Given the description of an element on the screen output the (x, y) to click on. 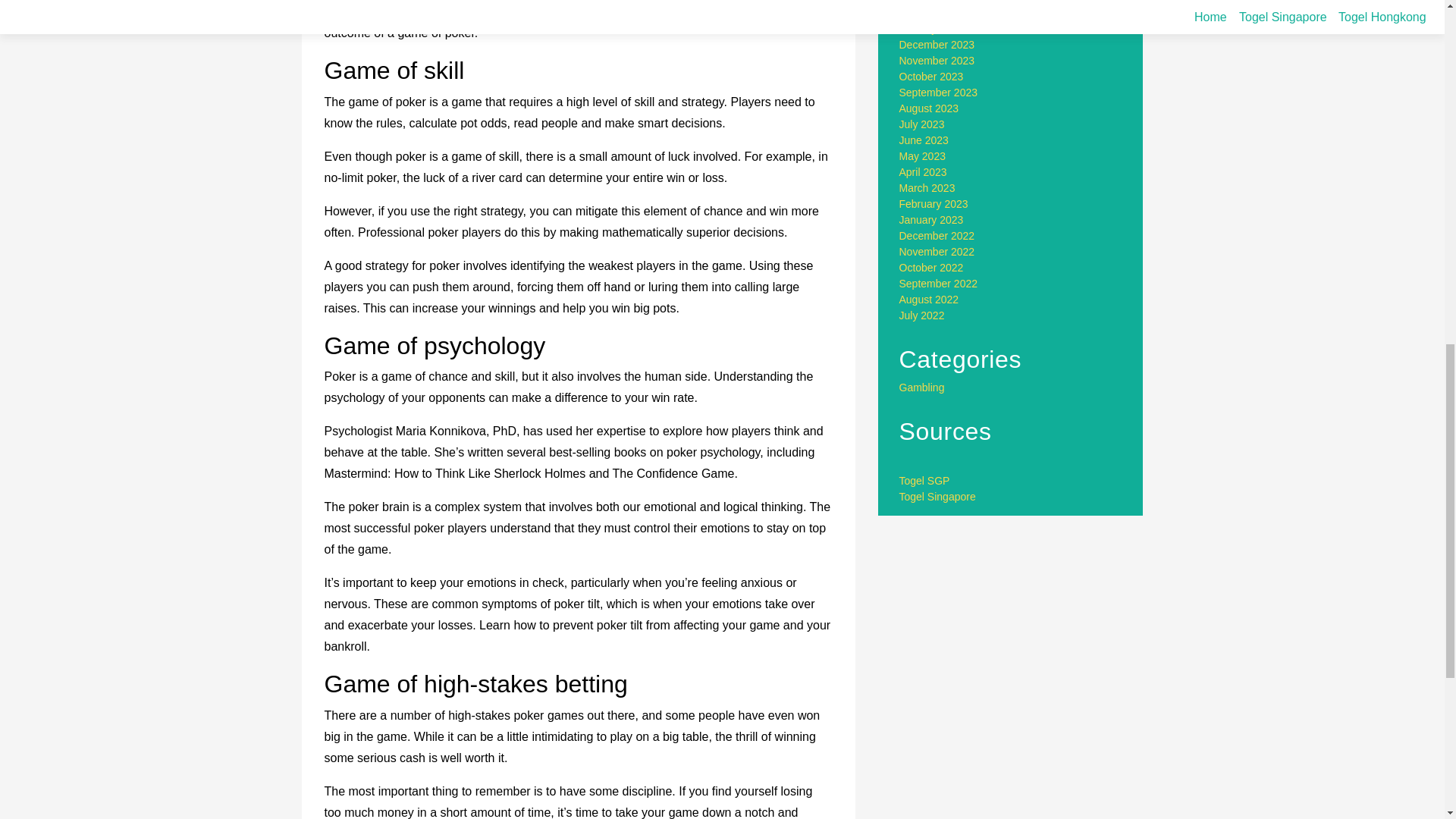
January 2023 (931, 219)
March 2023 (927, 187)
December 2023 (937, 44)
June 2023 (924, 140)
September 2023 (938, 92)
November 2022 (937, 251)
March 2024 (927, 1)
May 2023 (921, 155)
February 2024 (933, 12)
November 2023 (937, 60)
